Given the description of an element on the screen output the (x, y) to click on. 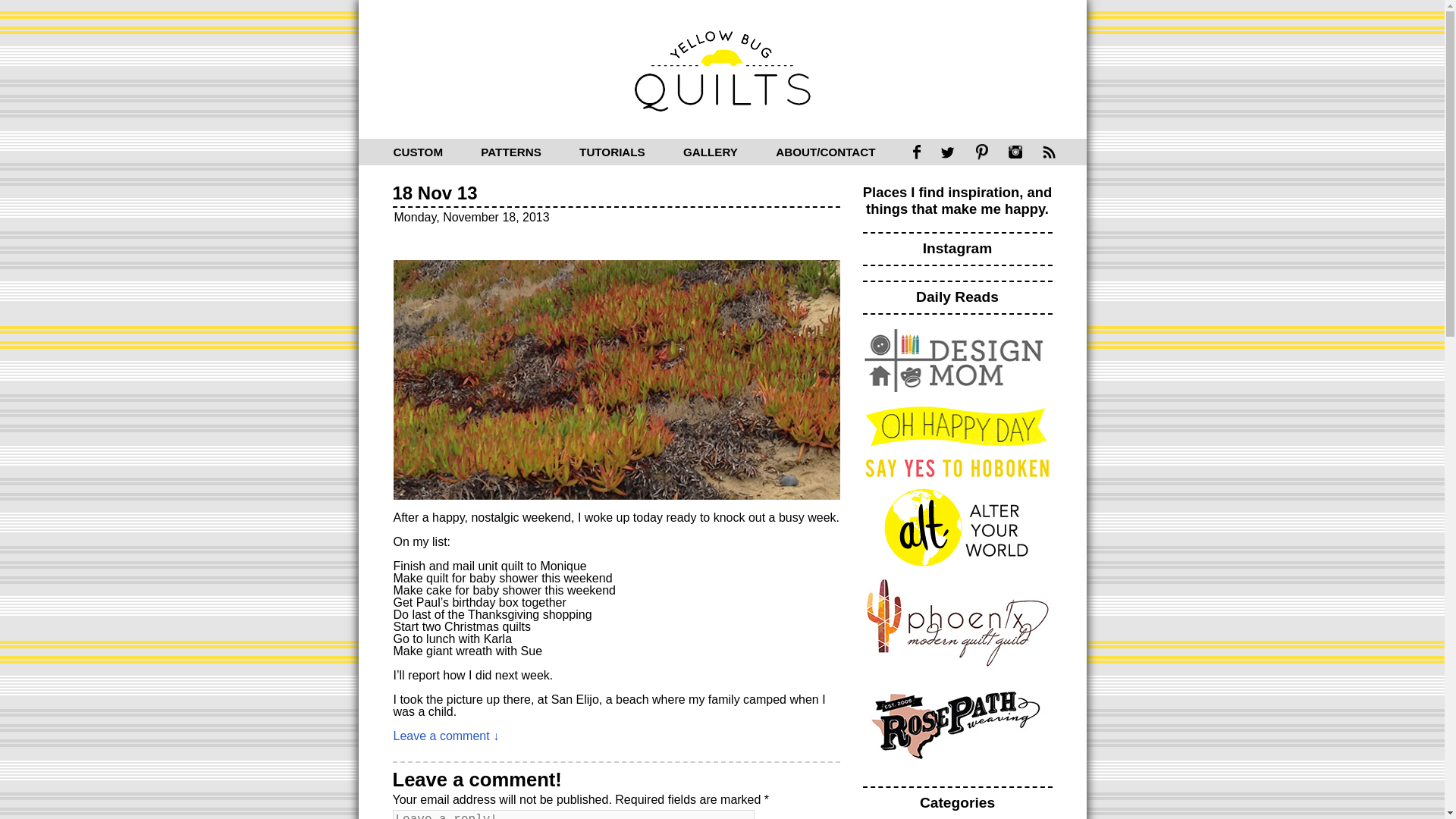
TUTORIALS (612, 151)
GALLERY (710, 151)
PATTERNS (511, 151)
CUSTOM (417, 151)
